Given the description of an element on the screen output the (x, y) to click on. 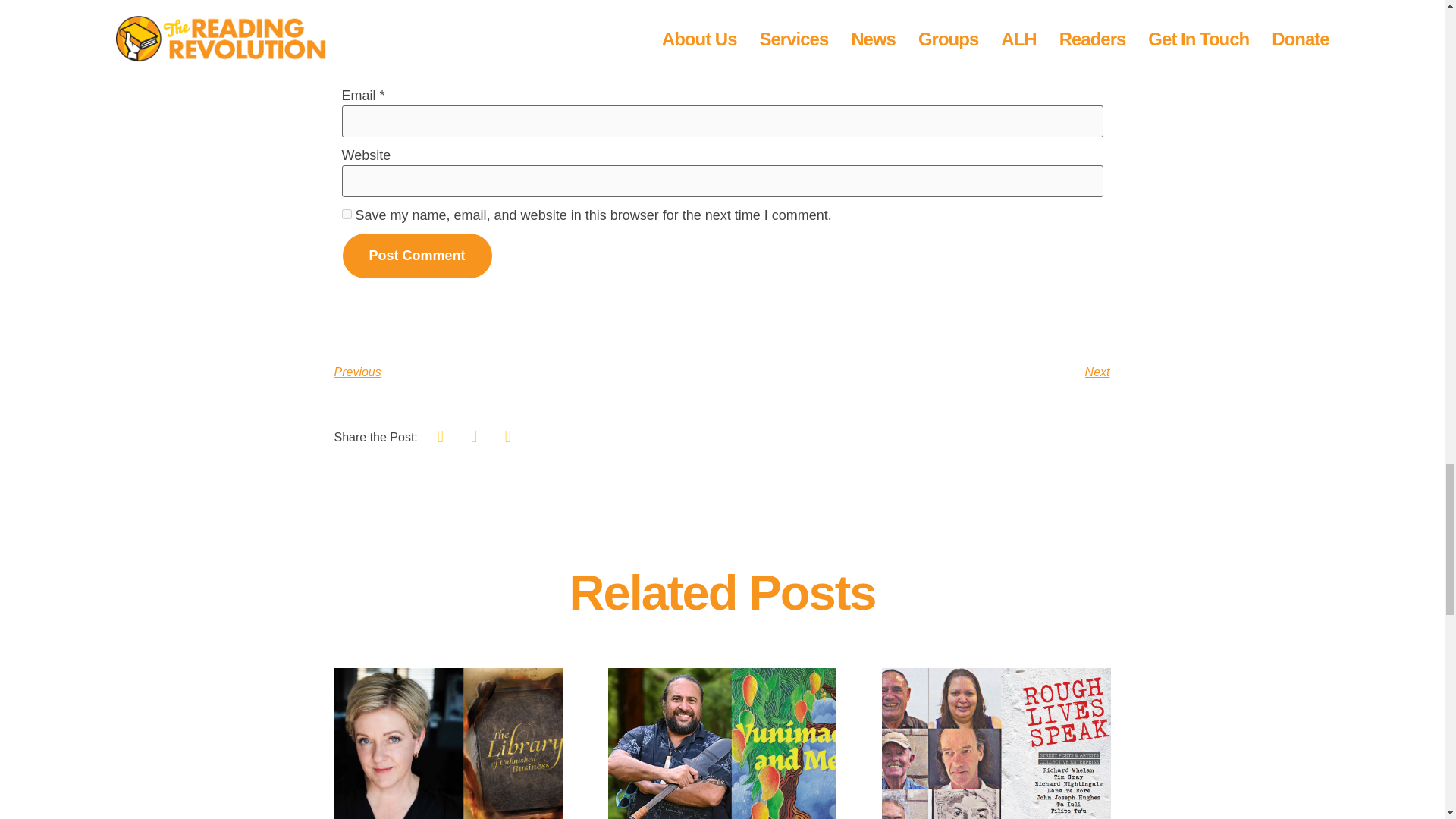
Post Comment (416, 255)
yes (345, 214)
